Given the description of an element on the screen output the (x, y) to click on. 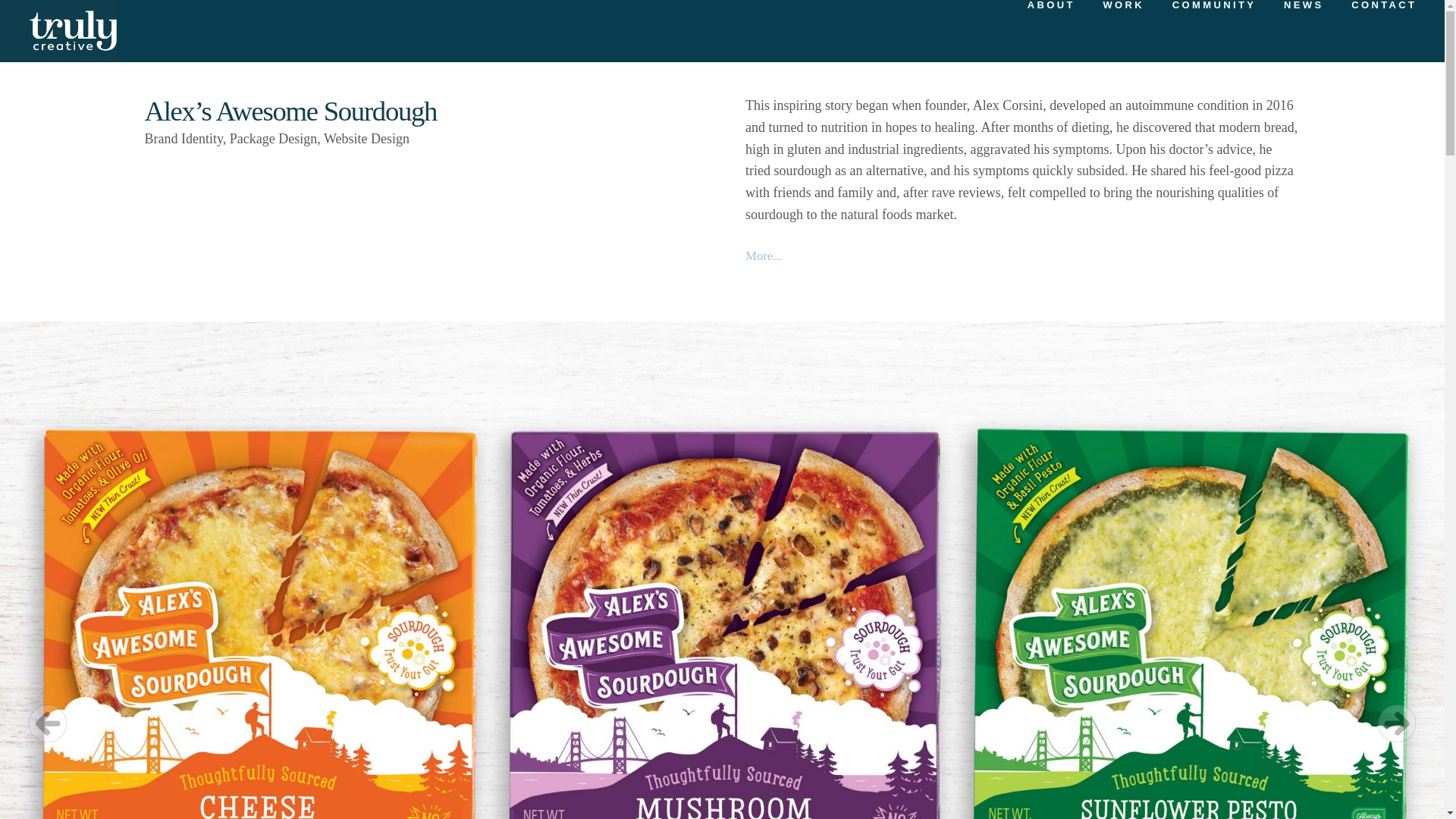
COMMUNITY (1212, 30)
ABOUT (1049, 30)
NEWS (1302, 30)
CONTACT (1374, 30)
WORK (1121, 30)
